Given the description of an element on the screen output the (x, y) to click on. 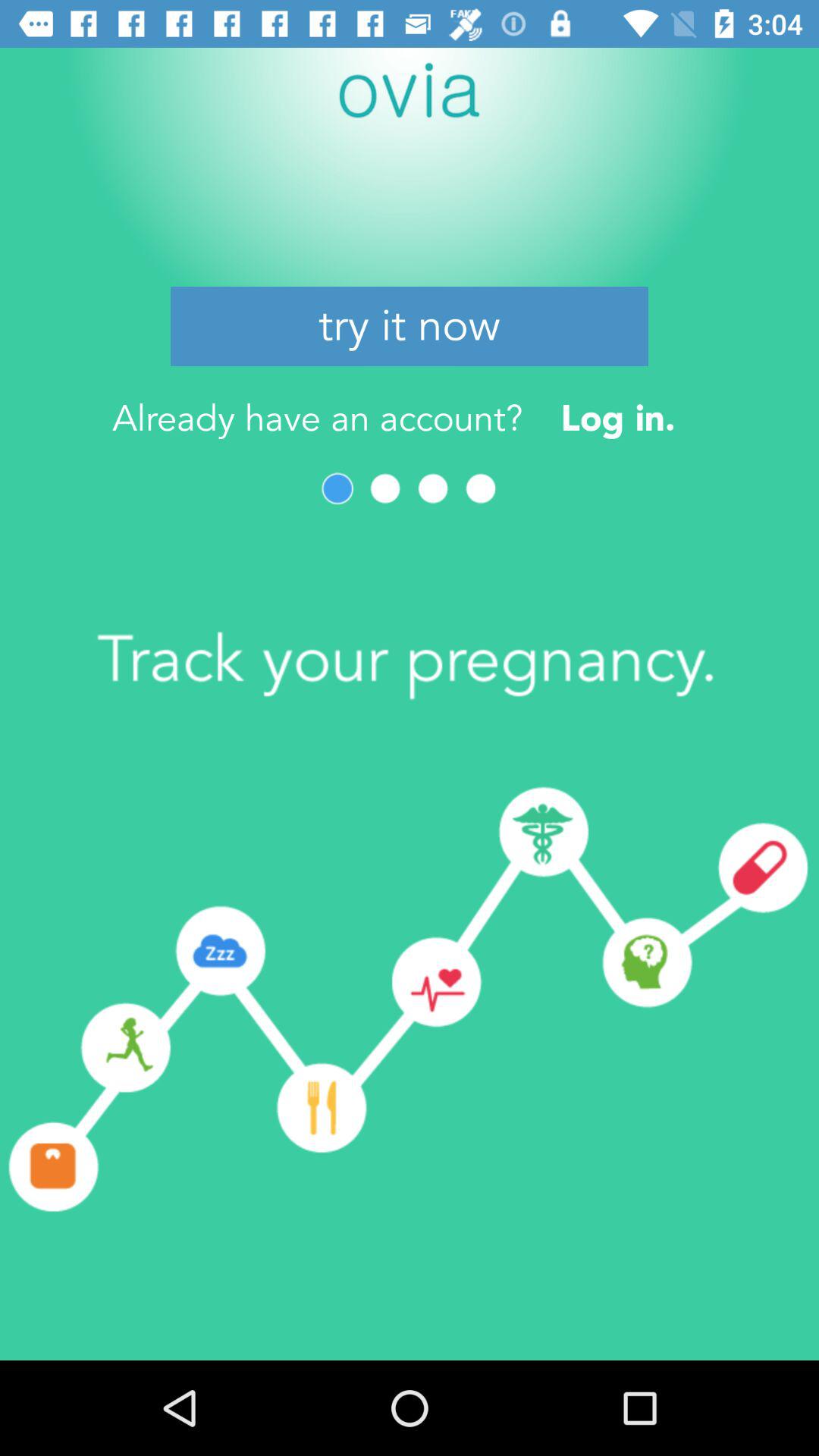
press item below already have an icon (481, 488)
